Given the description of an element on the screen output the (x, y) to click on. 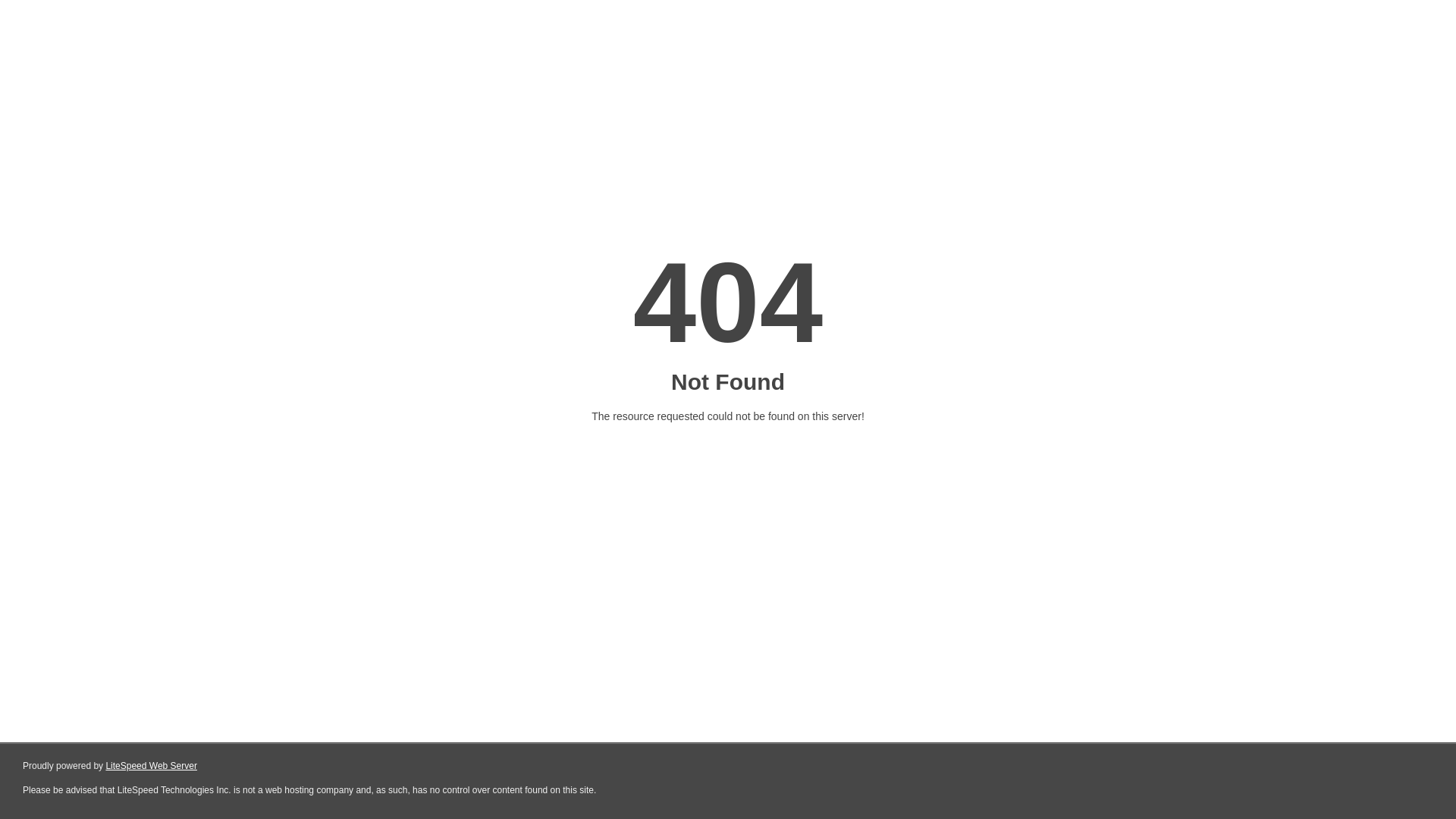
LiteSpeed Web Server Element type: text (151, 765)
